Given the description of an element on the screen output the (x, y) to click on. 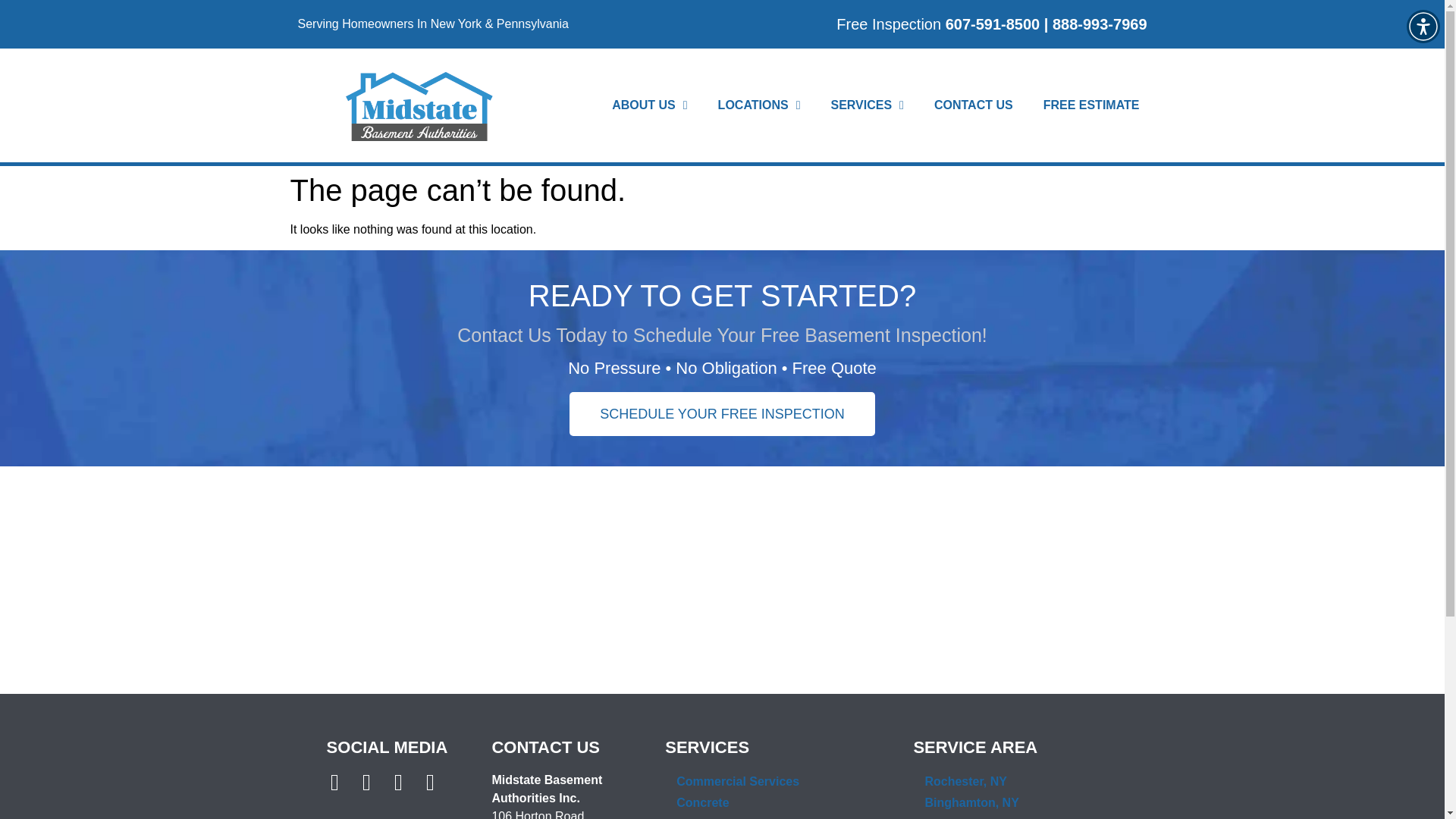
LOCATIONS (759, 104)
Accessibility Menu (1422, 26)
FREE ESTIMATE (1090, 104)
CONTACT US (972, 104)
ABOUT US (648, 104)
SERVICES (866, 104)
